Given the description of an element on the screen output the (x, y) to click on. 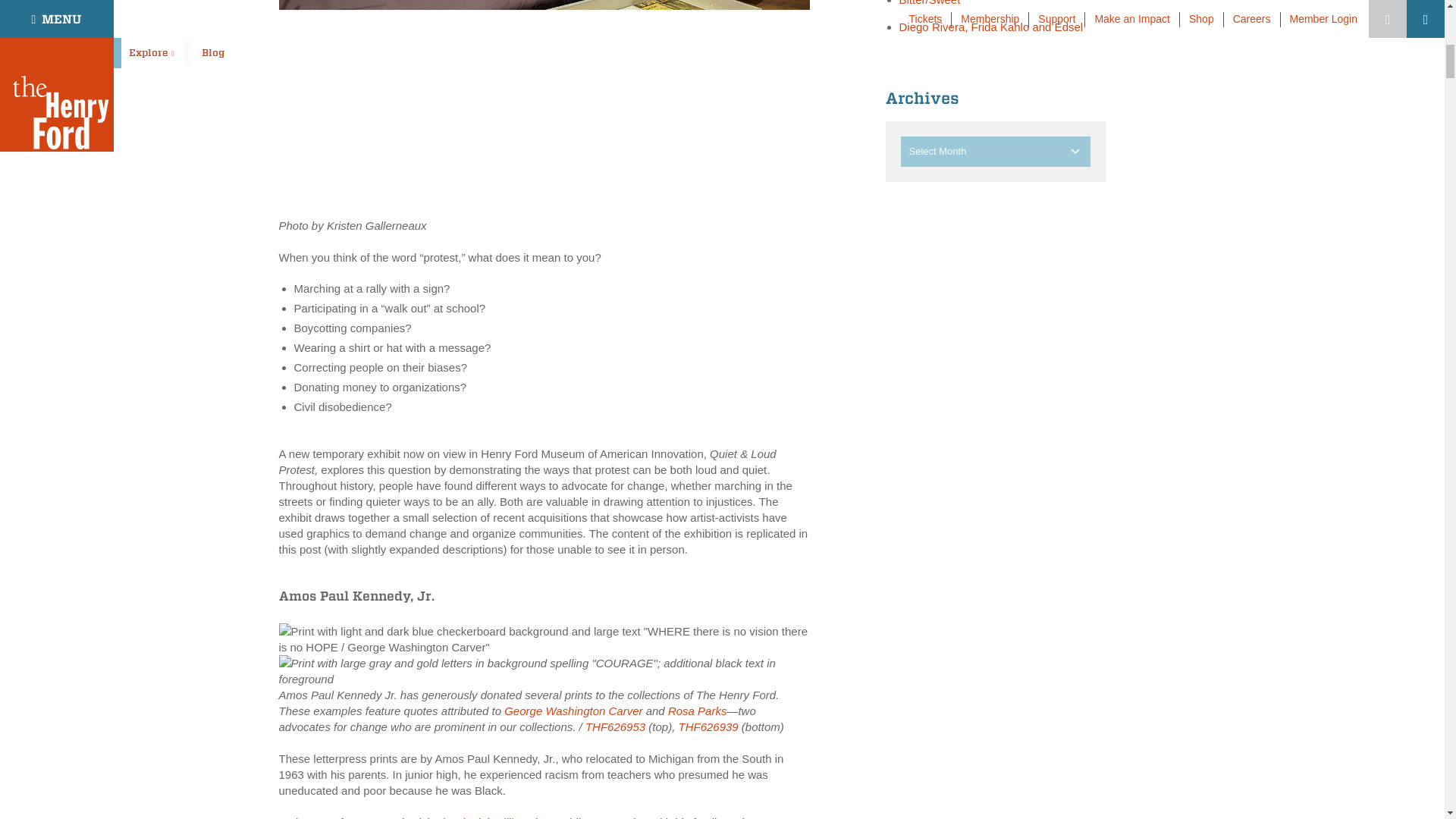
Colonial Williamsburg website (502, 817)
